Given the description of an element on the screen output the (x, y) to click on. 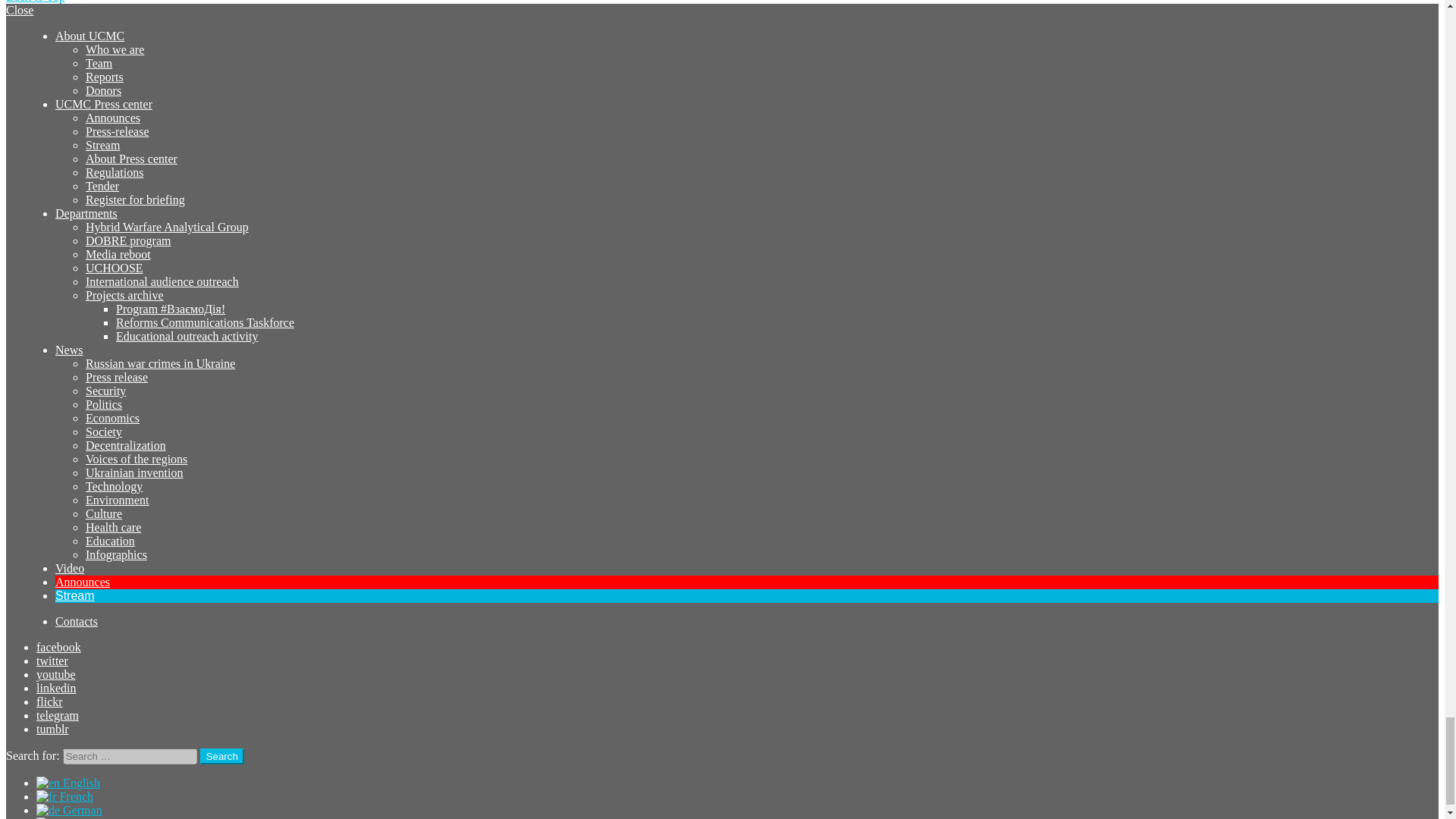
Deutsch (47, 810)
English (47, 783)
Search for: (129, 756)
